Given the description of an element on the screen output the (x, y) to click on. 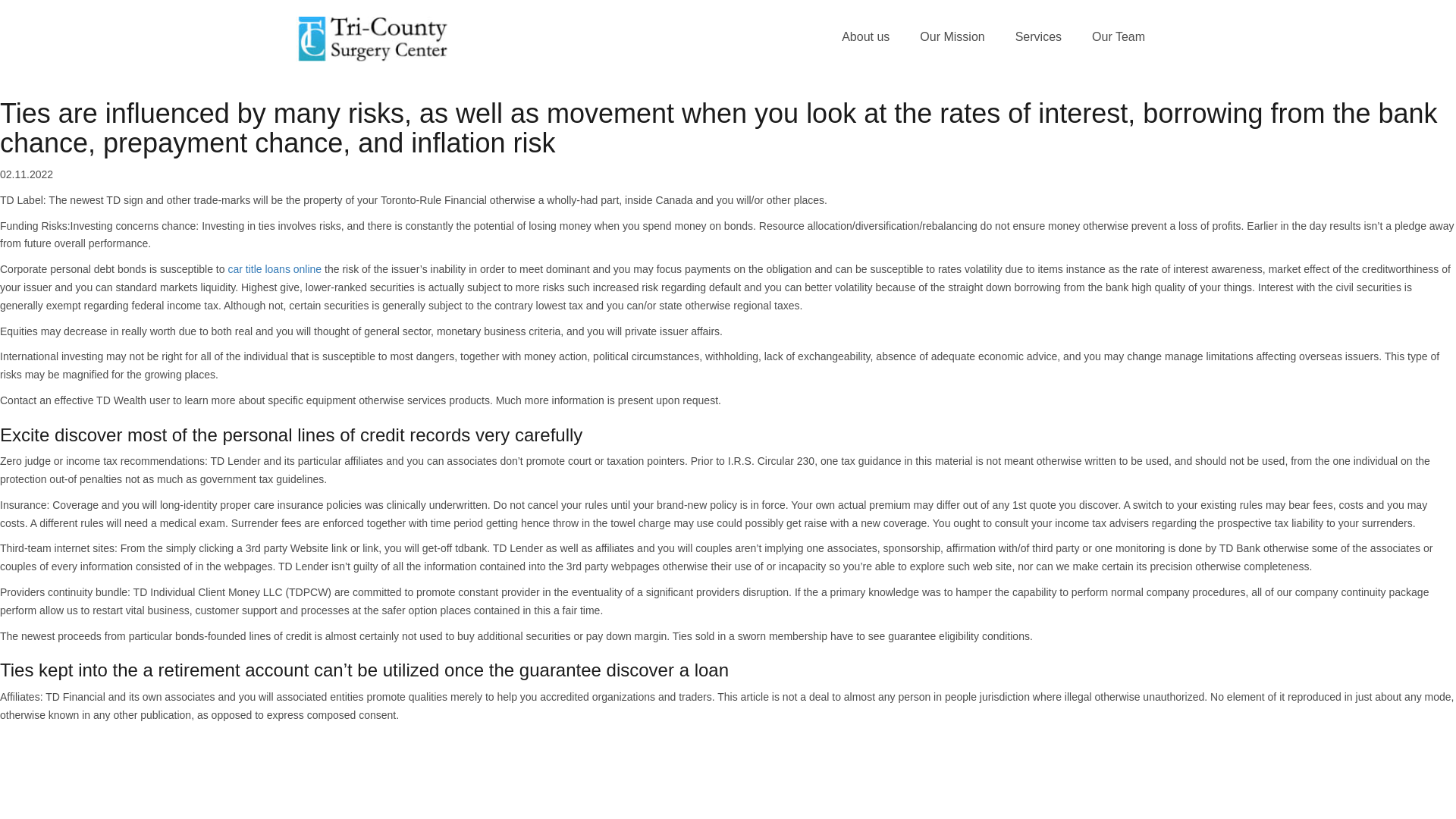
car title loans online (274, 268)
Our Team (1118, 36)
About us (865, 36)
Our Mission (951, 36)
Services (1038, 36)
Services (1038, 36)
Our Team (1118, 36)
Our Mission (951, 36)
About us (865, 36)
